Given the description of an element on the screen output the (x, y) to click on. 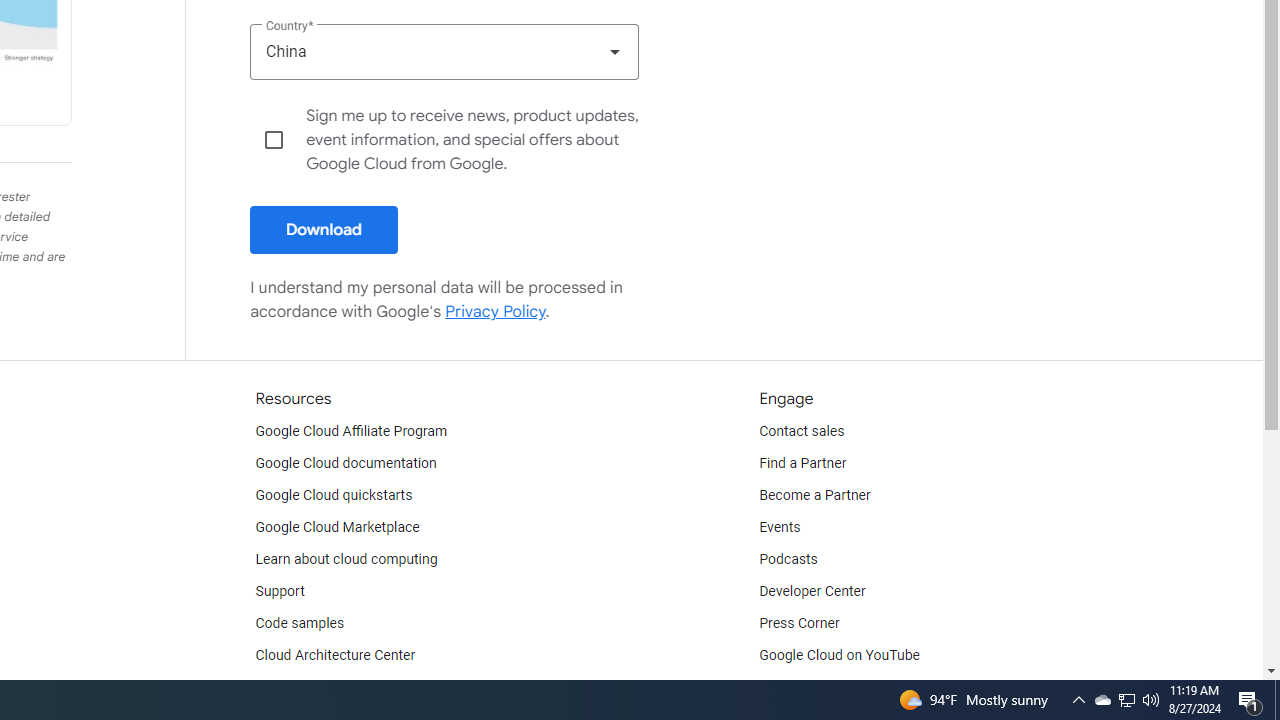
Google Cloud Tech on YouTube (856, 687)
Find a Partner (803, 463)
Code samples (299, 623)
Press Corner (799, 623)
Google Cloud quickstarts (333, 495)
Country China (444, 51)
Google Cloud Marketplace (336, 527)
